Given the description of an element on the screen output the (x, y) to click on. 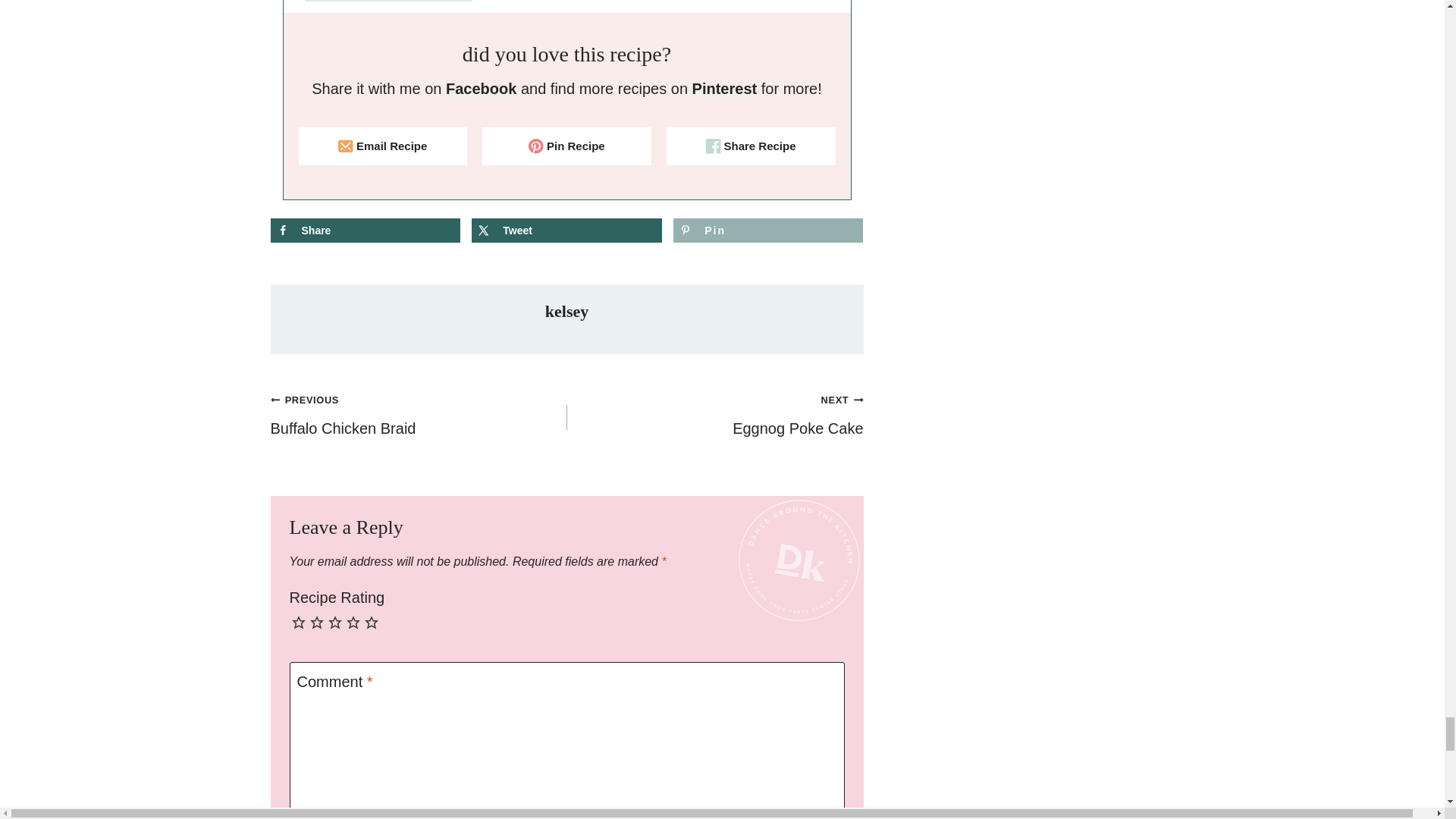
Share on Facebook (364, 230)
Share on X (566, 230)
Save to Pinterest (767, 230)
Posts by kelsey (566, 311)
